Given the description of an element on the screen output the (x, y) to click on. 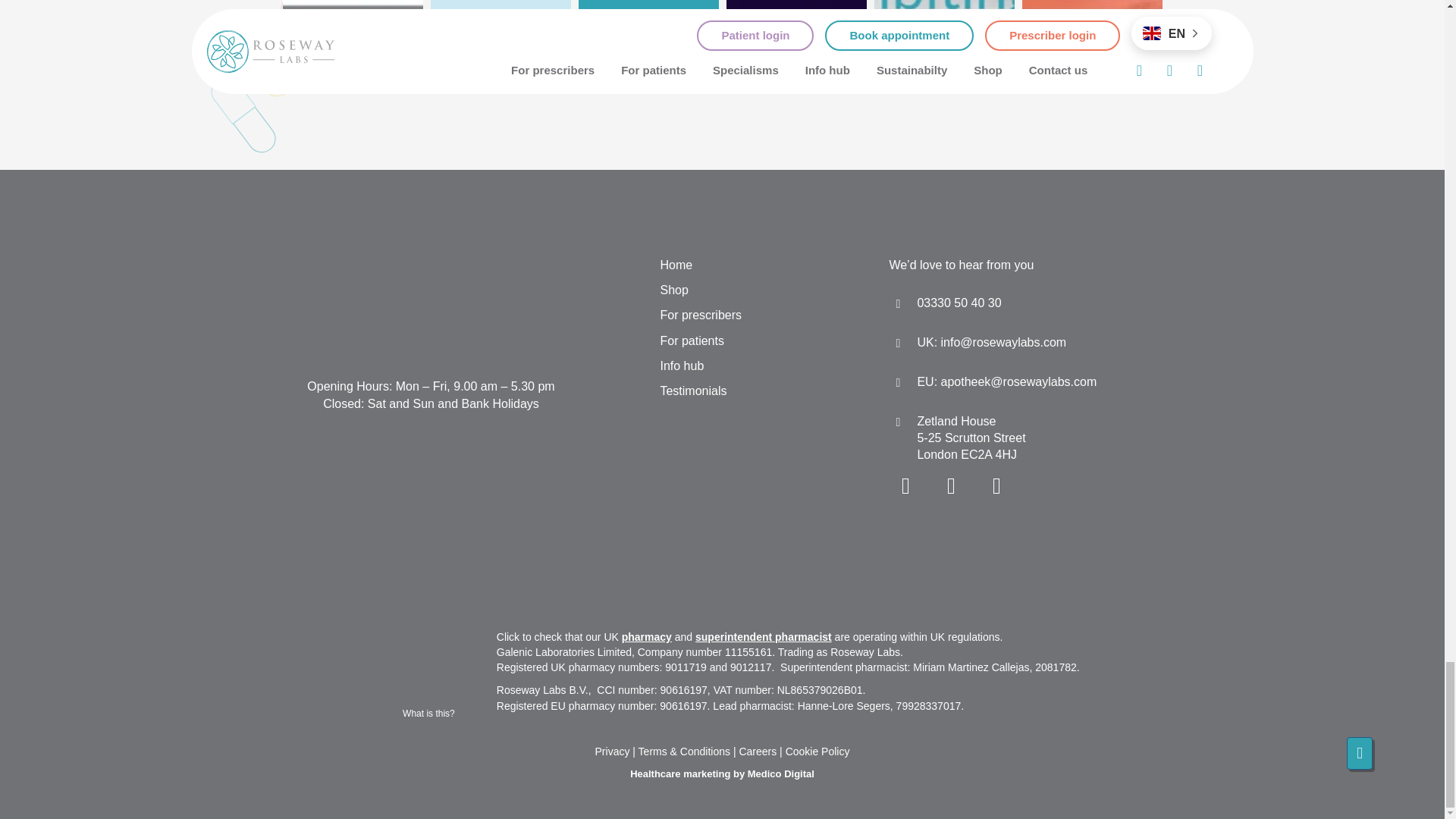
9011719 (431, 689)
LinkedIn (951, 485)
Instagram (905, 485)
Pharma Company of the Year - SME-01 (429, 512)
Facebook (996, 485)
